Given the description of an element on the screen output the (x, y) to click on. 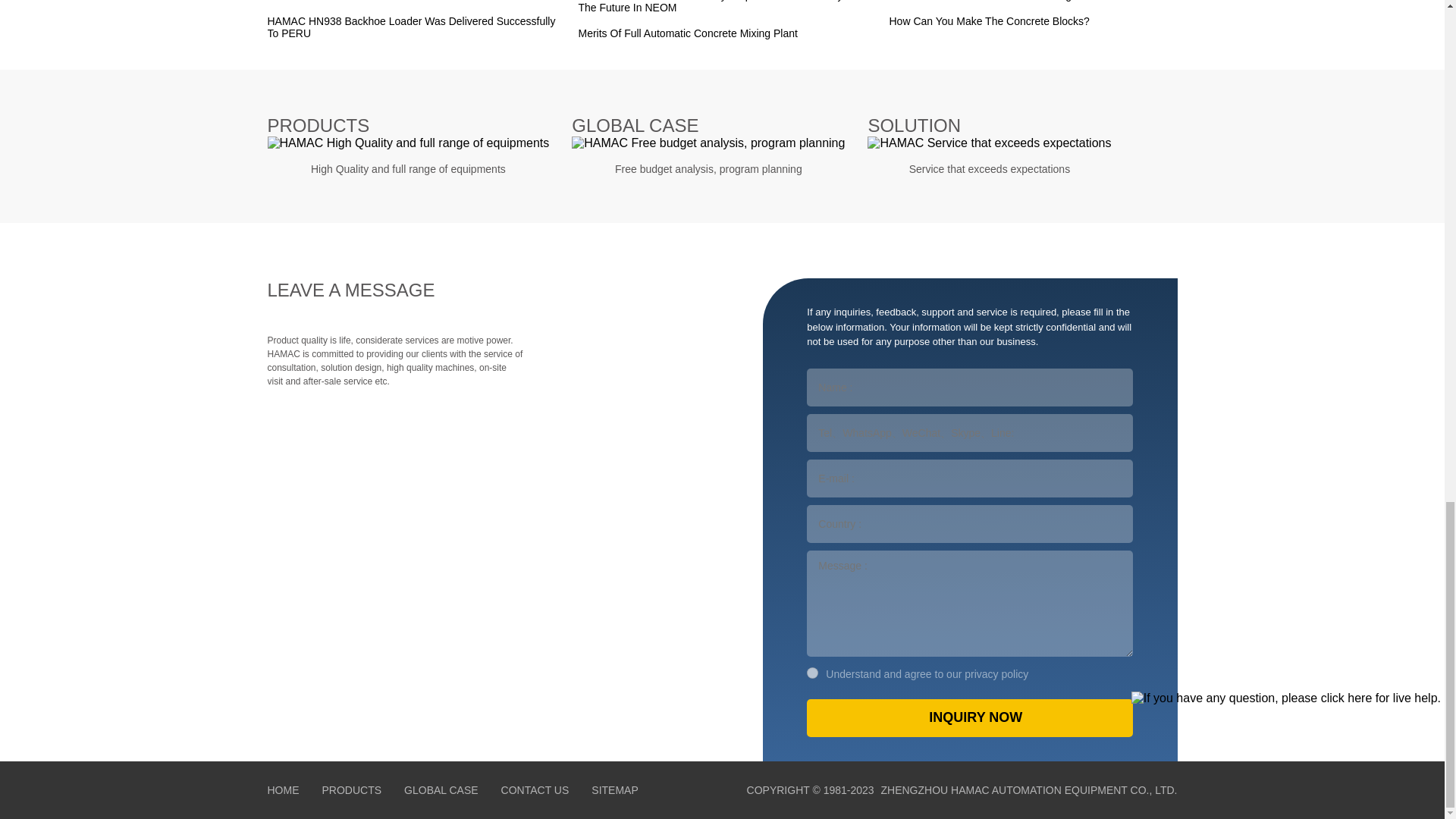
Inquiry Now (969, 718)
